Given the description of an element on the screen output the (x, y) to click on. 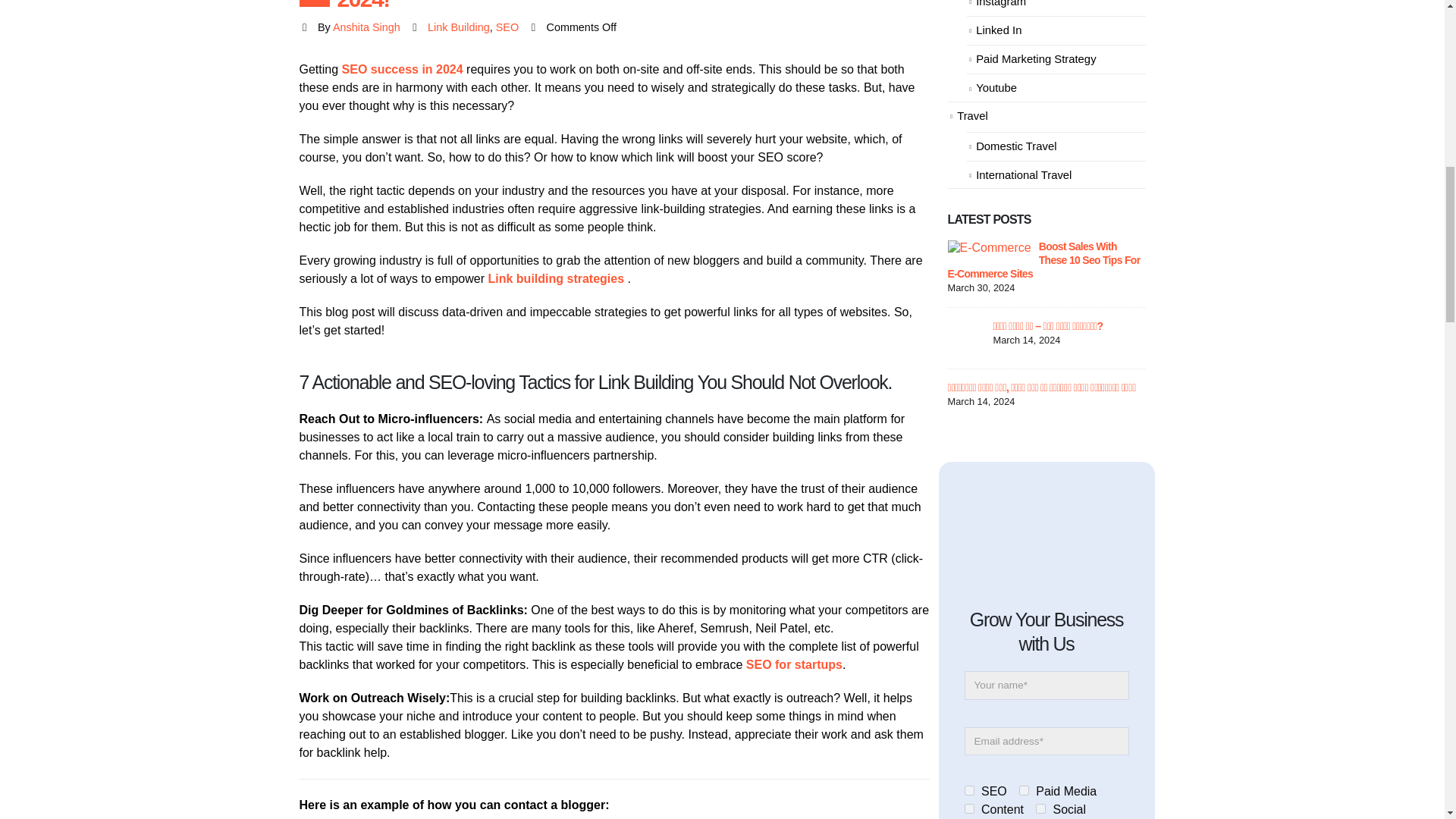
Content (968, 808)
SEO (968, 790)
Social (1040, 808)
Posts by Anshita Singh (366, 27)
Paid Media (1024, 790)
